Given the description of an element on the screen output the (x, y) to click on. 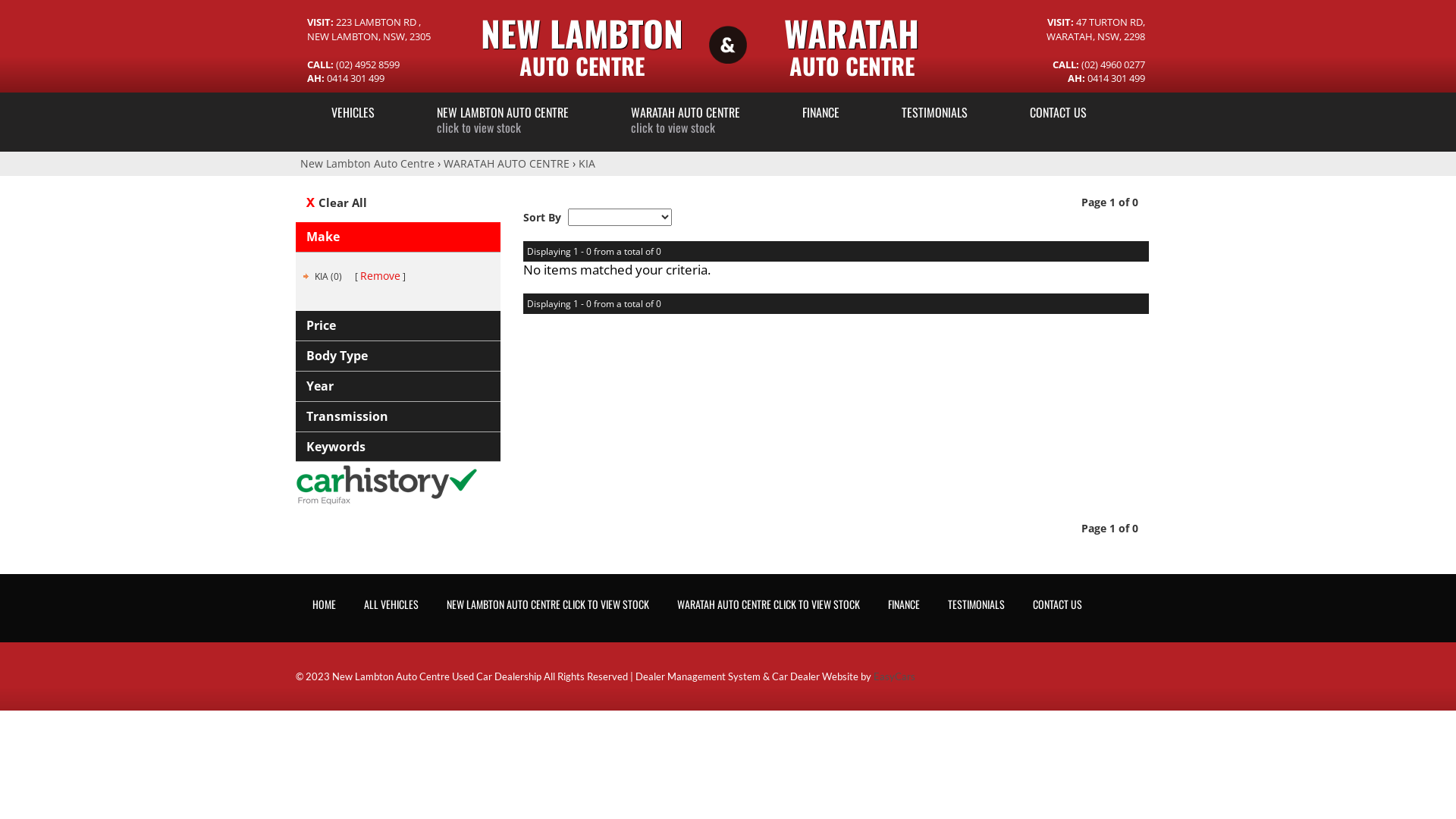
WARATAH AUTO CENTRE Element type: text (506, 163)
WARATAH AUTO CENTRE CLICK TO VIEW STOCK Element type: text (768, 607)
CONTACT US Element type: text (1058, 118)
New Lambton Auto Centre Element type: text (367, 163)
TESTIMONIALS Element type: text (976, 607)
NEW LAMBTON AUTO CENTRE CLICK TO VIEW STOCK Element type: text (547, 607)
NEW LAMBTON AUTO CENTRE
click to view stock Element type: text (502, 118)
WARATAH AUTO CENTRE
click to view stock Element type: text (685, 118)
Remove Element type: text (380, 275)
CONTACT US Element type: text (1057, 607)
FINANCE Element type: text (820, 118)
FINANCE Element type: text (903, 607)
TESTIMONIALS Element type: text (934, 118)
VEHICLES Element type: text (352, 118)
KIA Element type: text (586, 163)
EasyCars Element type: text (894, 676)
ALL VEHICLES Element type: text (391, 607)
Clear All Element type: text (402, 202)
HOME Element type: text (327, 607)
